Given the description of an element on the screen output the (x, y) to click on. 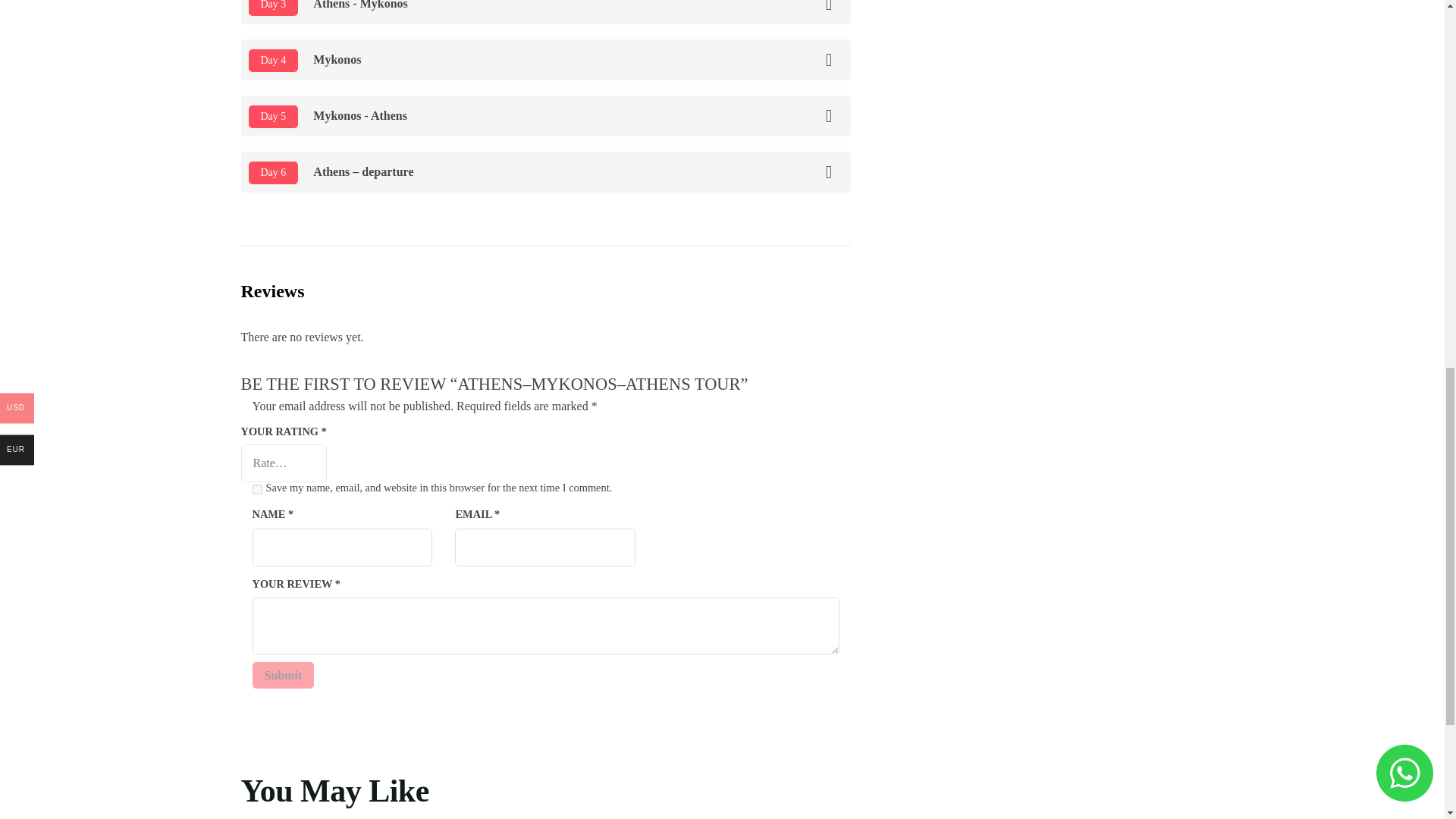
Submit (282, 675)
